Given the description of an element on the screen output the (x, y) to click on. 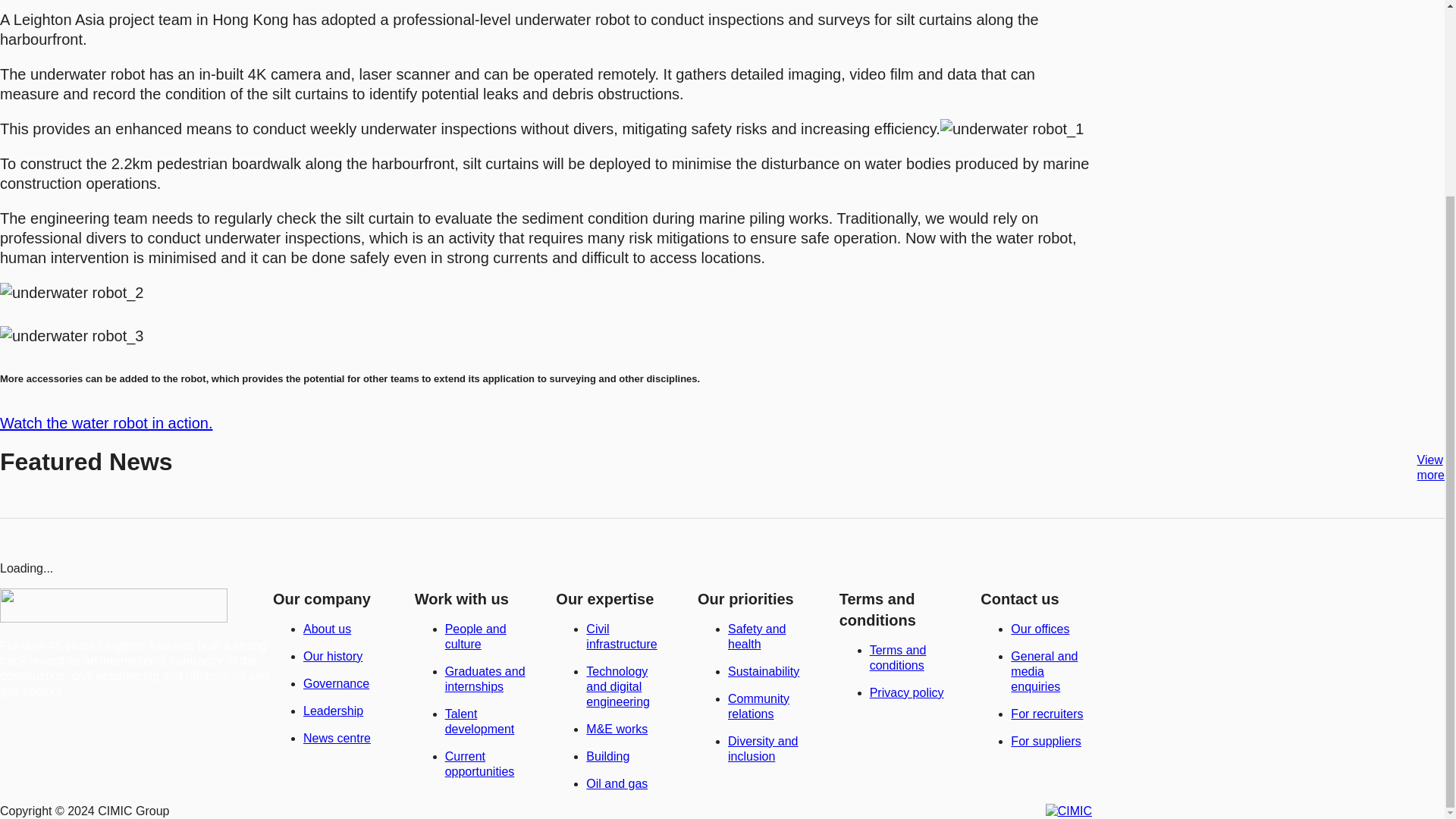
Sustainability (763, 671)
About us (326, 628)
Our history (332, 656)
Safety and health (757, 636)
Civil infrastructure (621, 636)
Diversity and inclusion (762, 748)
Technology and digital engineering (617, 686)
Governance (335, 683)
Oil and gas (616, 783)
Graduates and internships (485, 678)
Terms and conditions (897, 657)
Current opportunities (480, 764)
Privacy policy (906, 692)
Building (607, 756)
Watch the water robot in action. (106, 422)
